Given the description of an element on the screen output the (x, y) to click on. 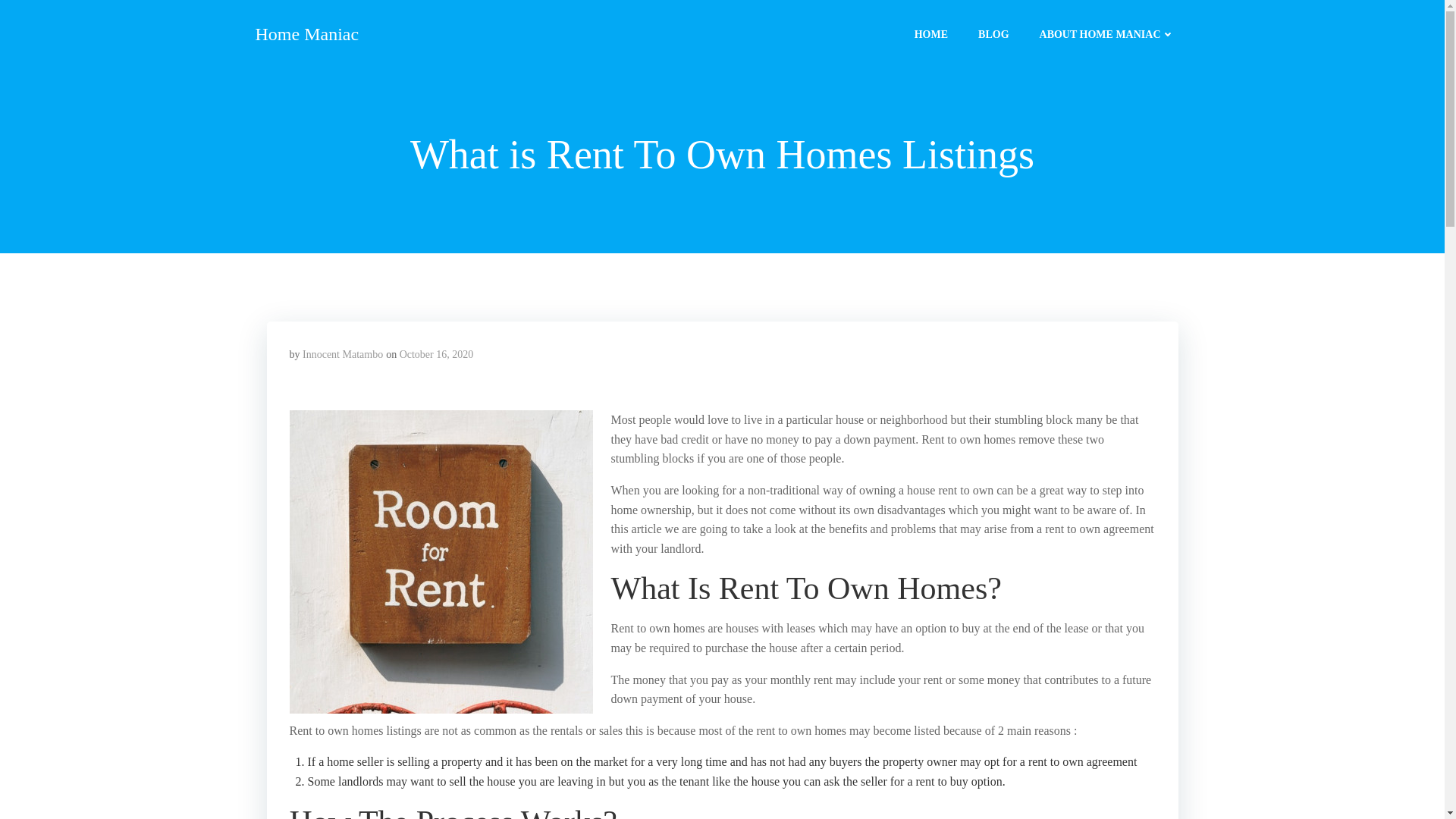
BLOG (993, 33)
HOME (930, 33)
Innocent Matambo (342, 354)
What is rent to own homes listings (440, 561)
October 16, 2020 (436, 354)
Home Maniac (306, 33)
ABOUT HOME MANIAC (1106, 33)
